Given the description of an element on the screen output the (x, y) to click on. 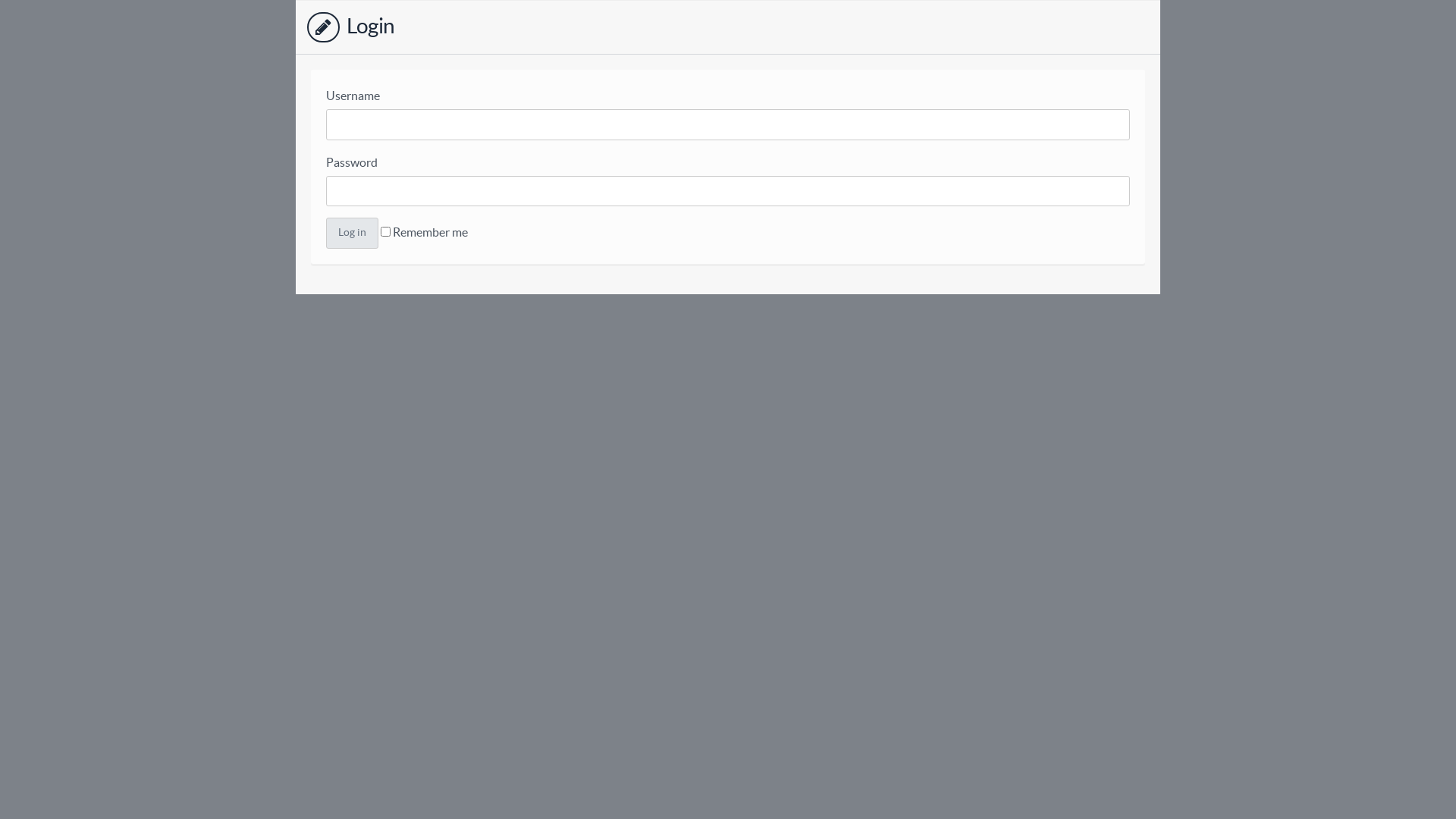
Log in Element type: text (352, 232)
